Given the description of an element on the screen output the (x, y) to click on. 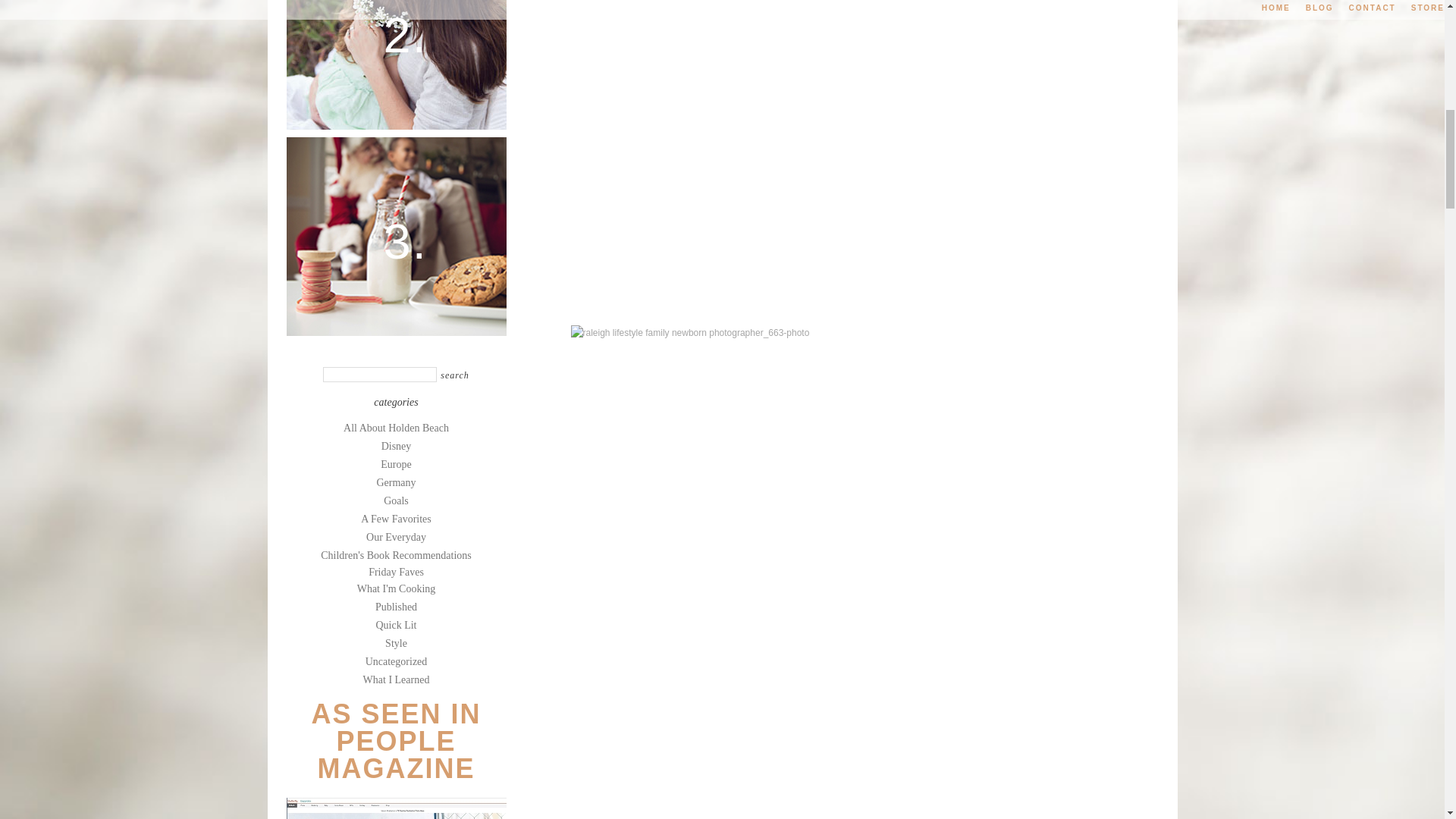
Goals (396, 500)
Germany (394, 482)
Uncategorized (396, 661)
Children's Book Recommendations (395, 555)
Disney (396, 446)
Friday Faves (395, 572)
Search (454, 375)
Our Everyday (396, 536)
What I Learned (395, 679)
A Few Favorites (395, 518)
3. (396, 235)
Quick Lit (395, 624)
Published (395, 606)
Search (454, 375)
All About Holden Beach (395, 428)
